Given the description of an element on the screen output the (x, y) to click on. 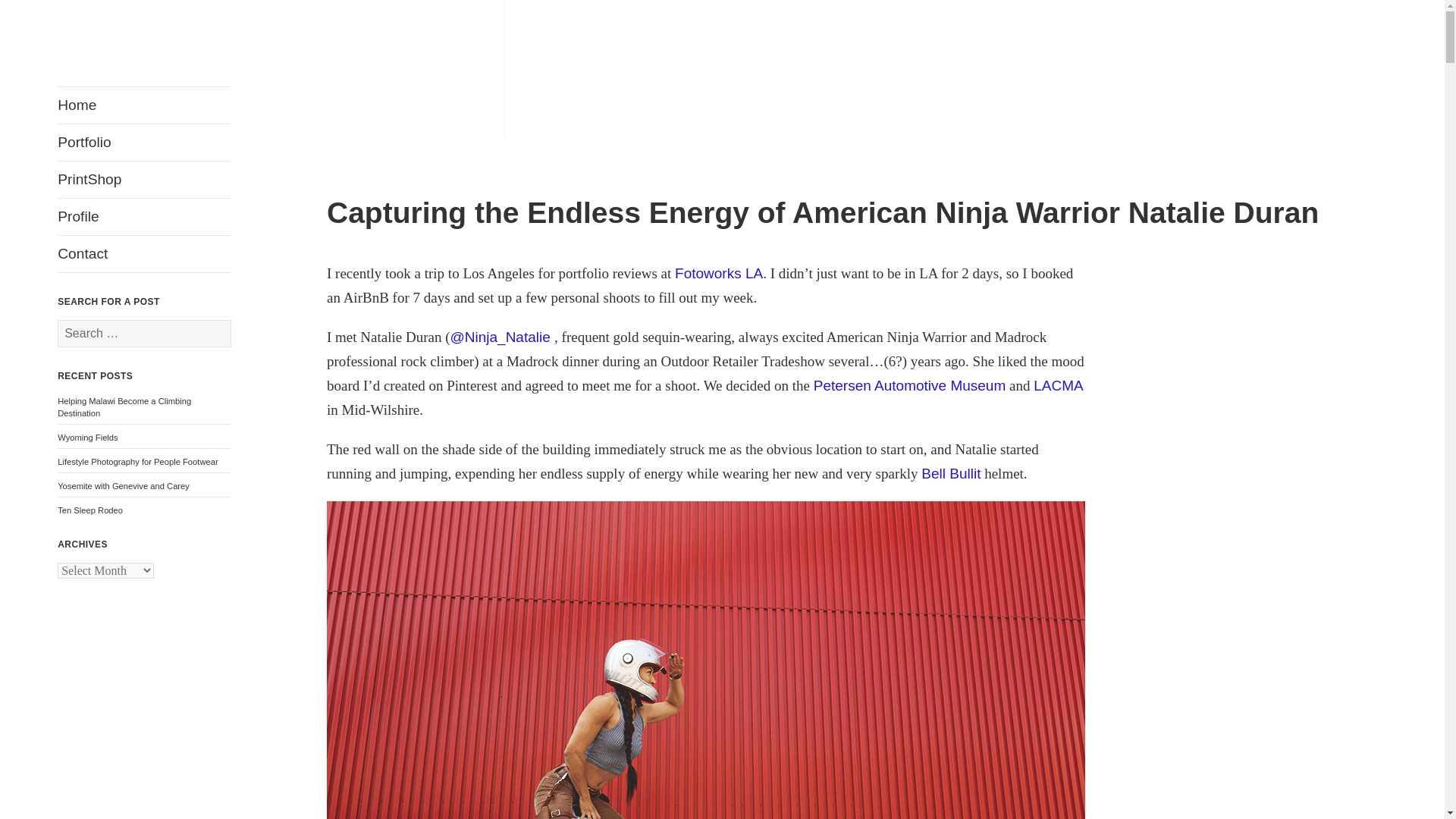
Portfolio (144, 142)
Ten Sleep Rodeo (90, 510)
Fotoworks LA (718, 273)
Helping Malawi Become a Climbing Destination (124, 406)
Contact (144, 253)
Contact (144, 253)
Portfolio (144, 142)
Bell Bullit (950, 473)
PrintShop (144, 179)
Yosemite with Genevive and Carey (123, 485)
Yosemite with Genevive and Carey (123, 485)
Petersen Automotive Museum (909, 385)
LACMA (1058, 385)
